Given the description of an element on the screen output the (x, y) to click on. 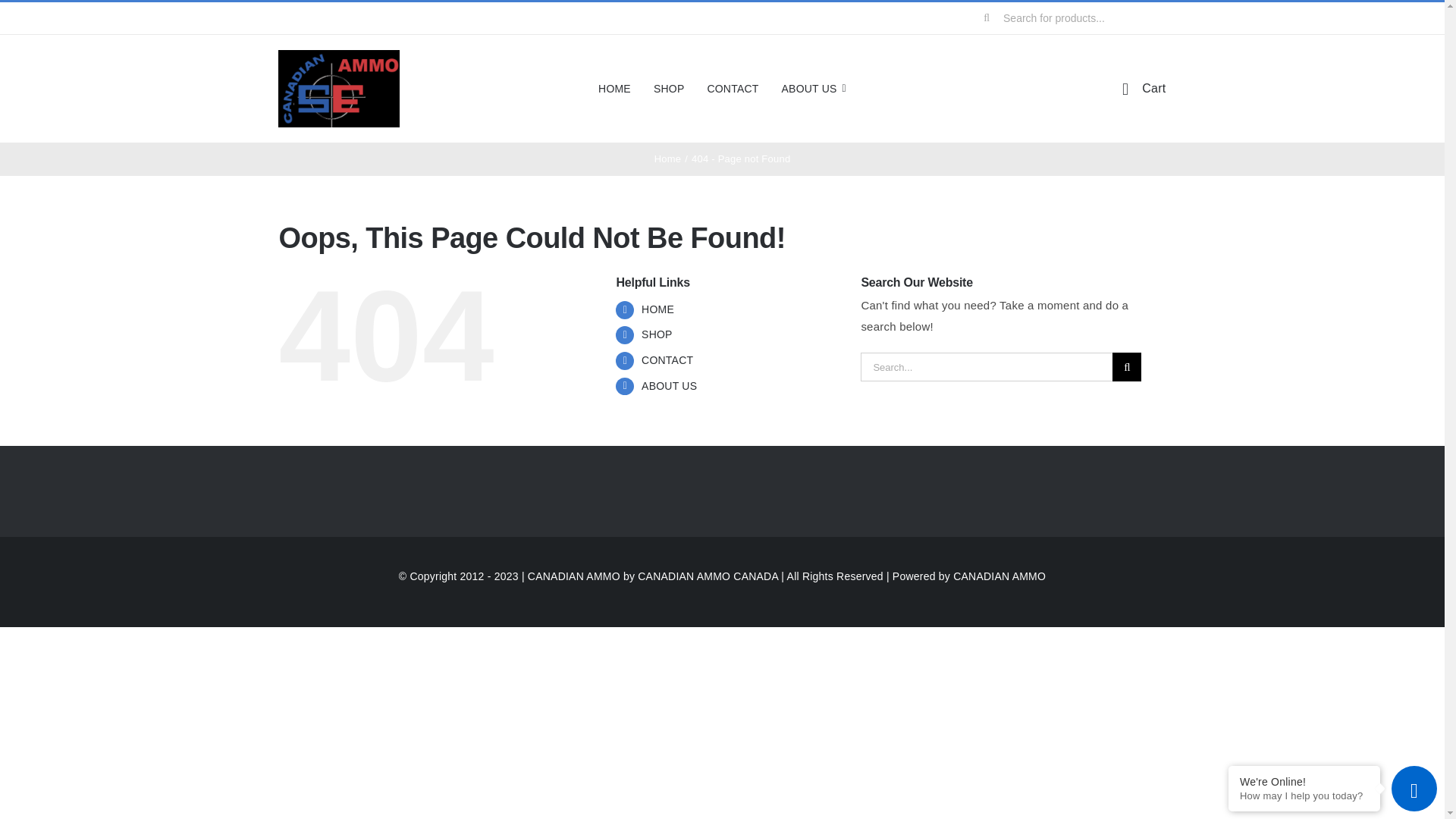
ABOUT US (813, 88)
CONTACT (732, 88)
Home (667, 158)
HOME (658, 309)
CONTACT (667, 359)
SHOP (657, 334)
ABOUT US (669, 386)
